Given the description of an element on the screen output the (x, y) to click on. 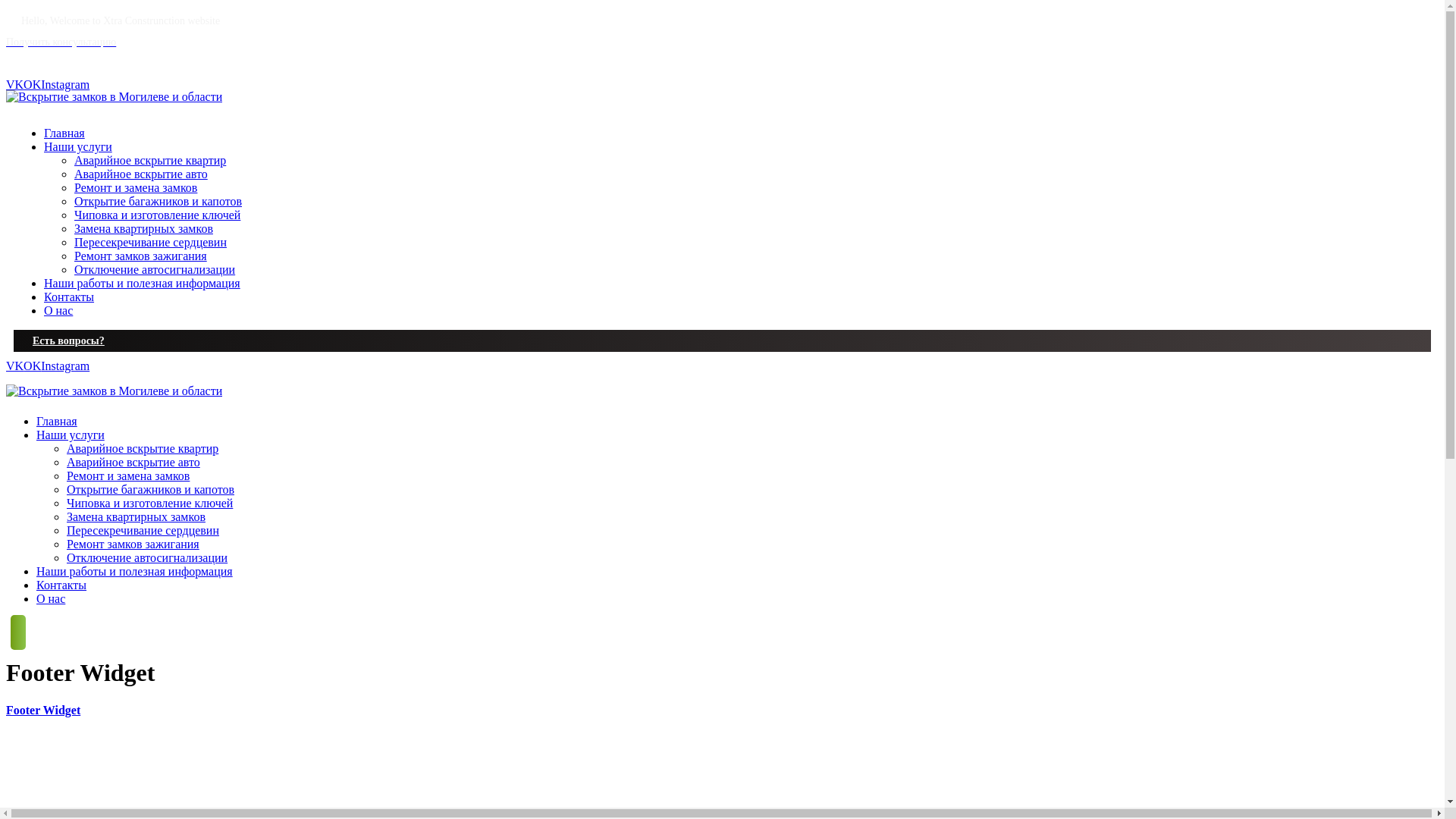
OK Element type: text (31, 84)
VK Element type: text (14, 365)
Footer Widget Element type: text (43, 709)
Instagram Element type: text (64, 84)
OK Element type: text (31, 365)
VK Element type: text (14, 84)
Instagram Element type: text (64, 365)
